Given the description of an element on the screen output the (x, y) to click on. 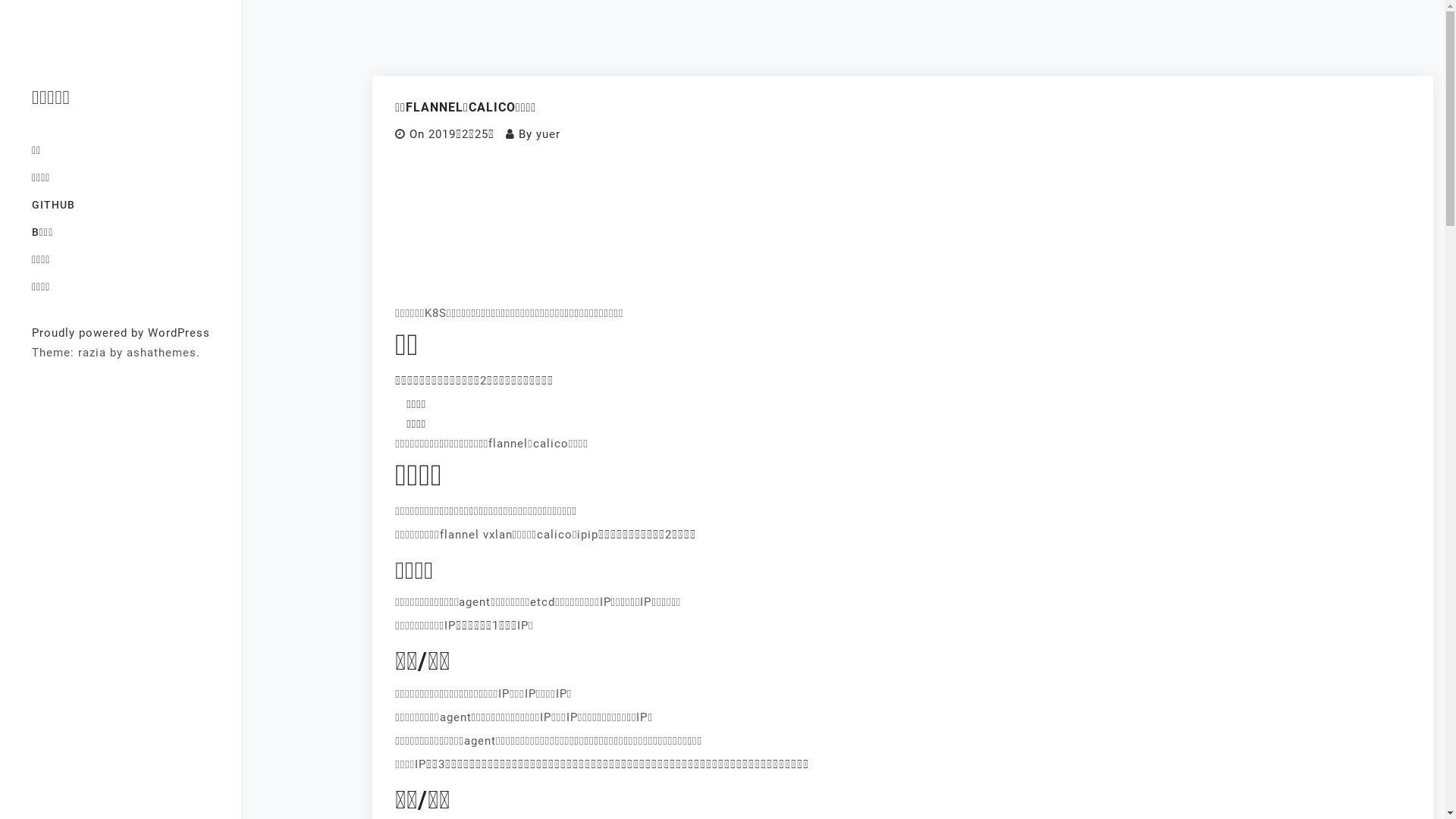
yuer Element type: text (548, 134)
Proudly powered by WordPress Element type: text (120, 332)
GITHUB Element type: text (120, 204)
Advertisement Element type: hover (903, 227)
